Given the description of an element on the screen output the (x, y) to click on. 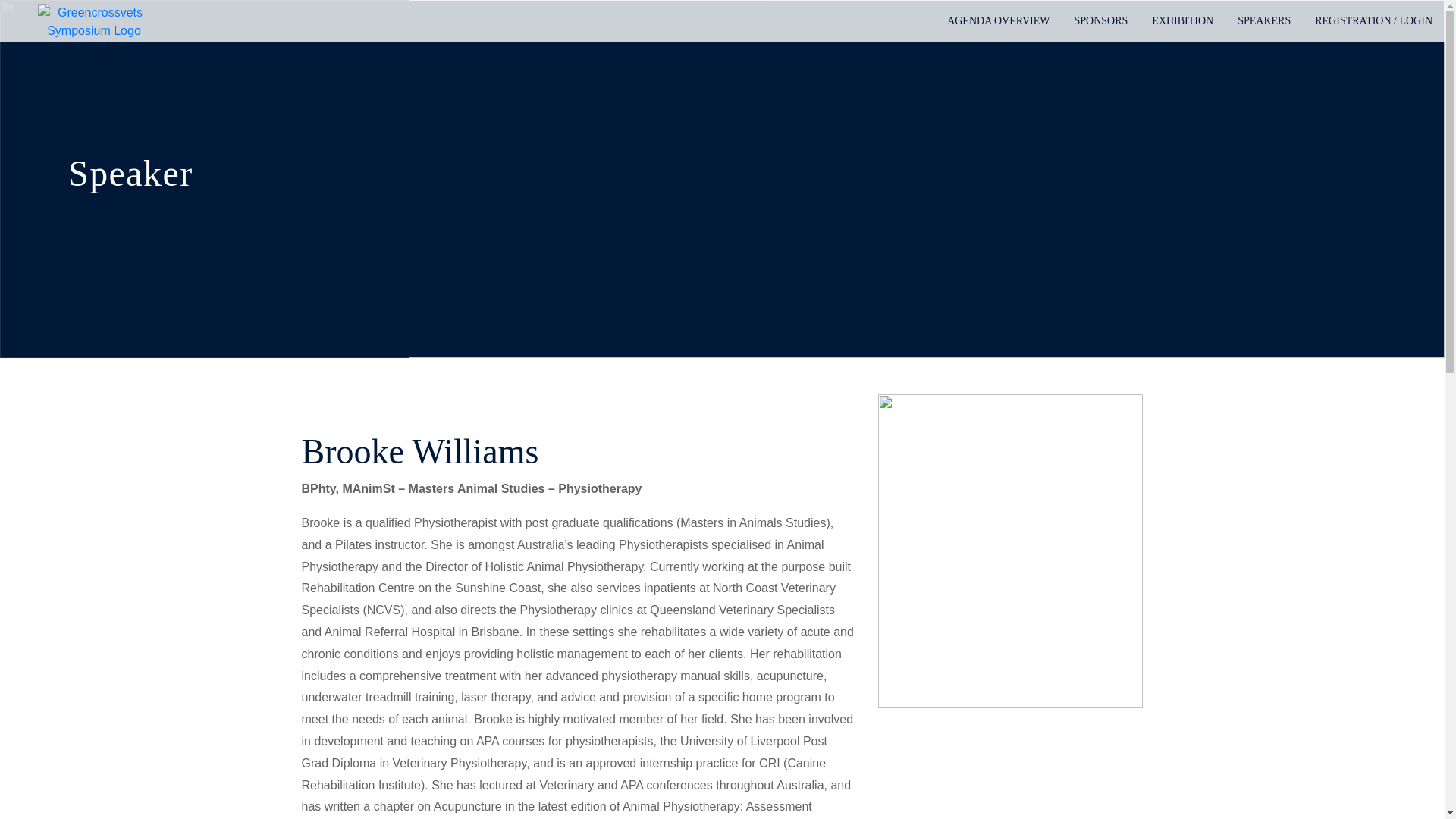
EXHIBITION (1182, 21)
SPEAKERS (1264, 21)
AGENDA OVERVIEW (997, 21)
SPONSORS (1100, 21)
